Given the description of an element on the screen output the (x, y) to click on. 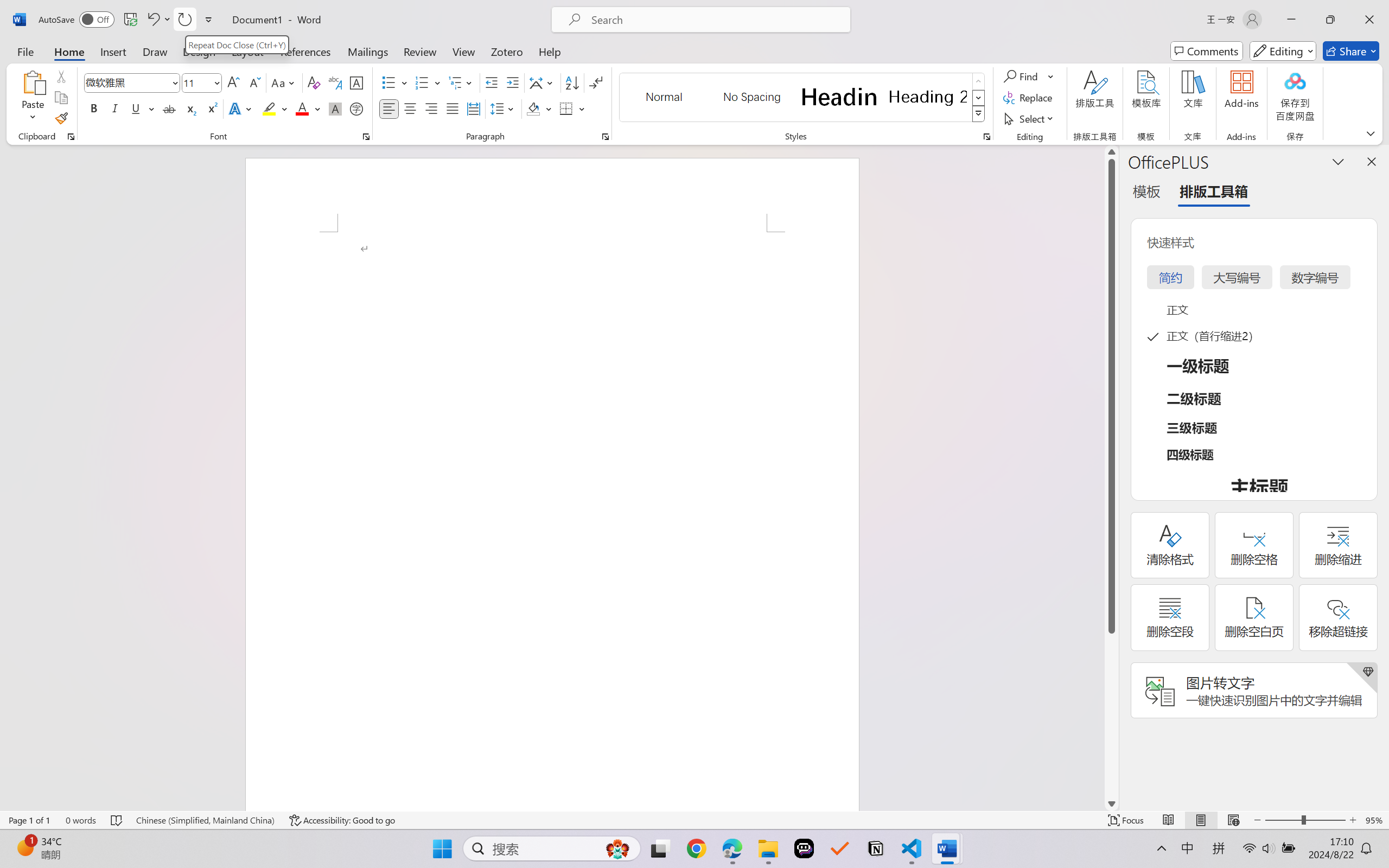
Class: MsoCommandBar (694, 819)
AutomationID: QuickStylesGallery (802, 97)
